Given the description of an element on the screen output the (x, y) to click on. 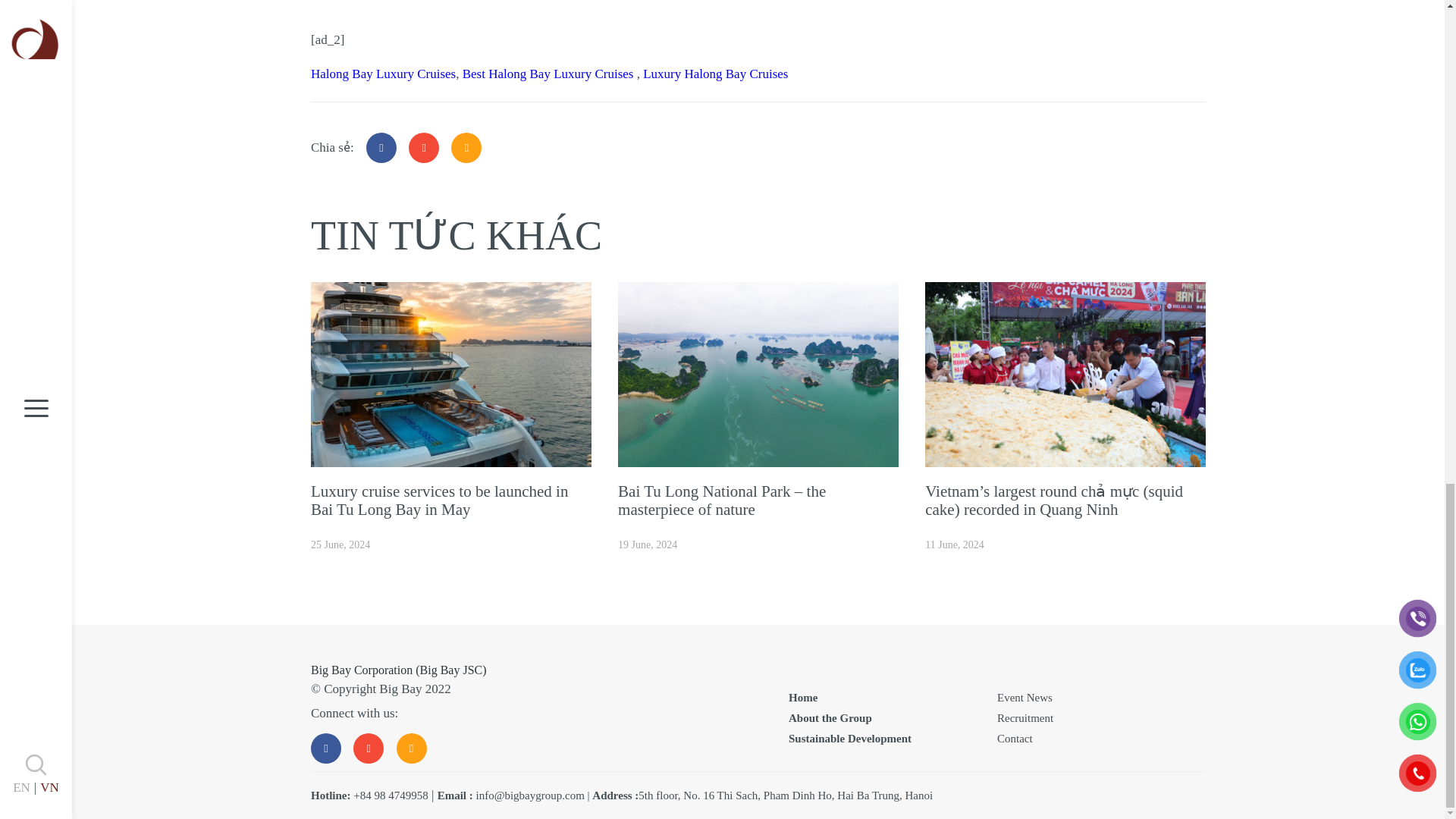
Luxury Halong Bay Cruises (715, 73)
Home (802, 696)
Sustainable Development (850, 738)
Recruitment (1024, 717)
Halong Bay Luxury Cruises (383, 73)
About the Group (830, 717)
Event News (1024, 696)
Best Halong Bay Luxury Cruises (550, 73)
Contact (1014, 738)
